Given the description of an element on the screen output the (x, y) to click on. 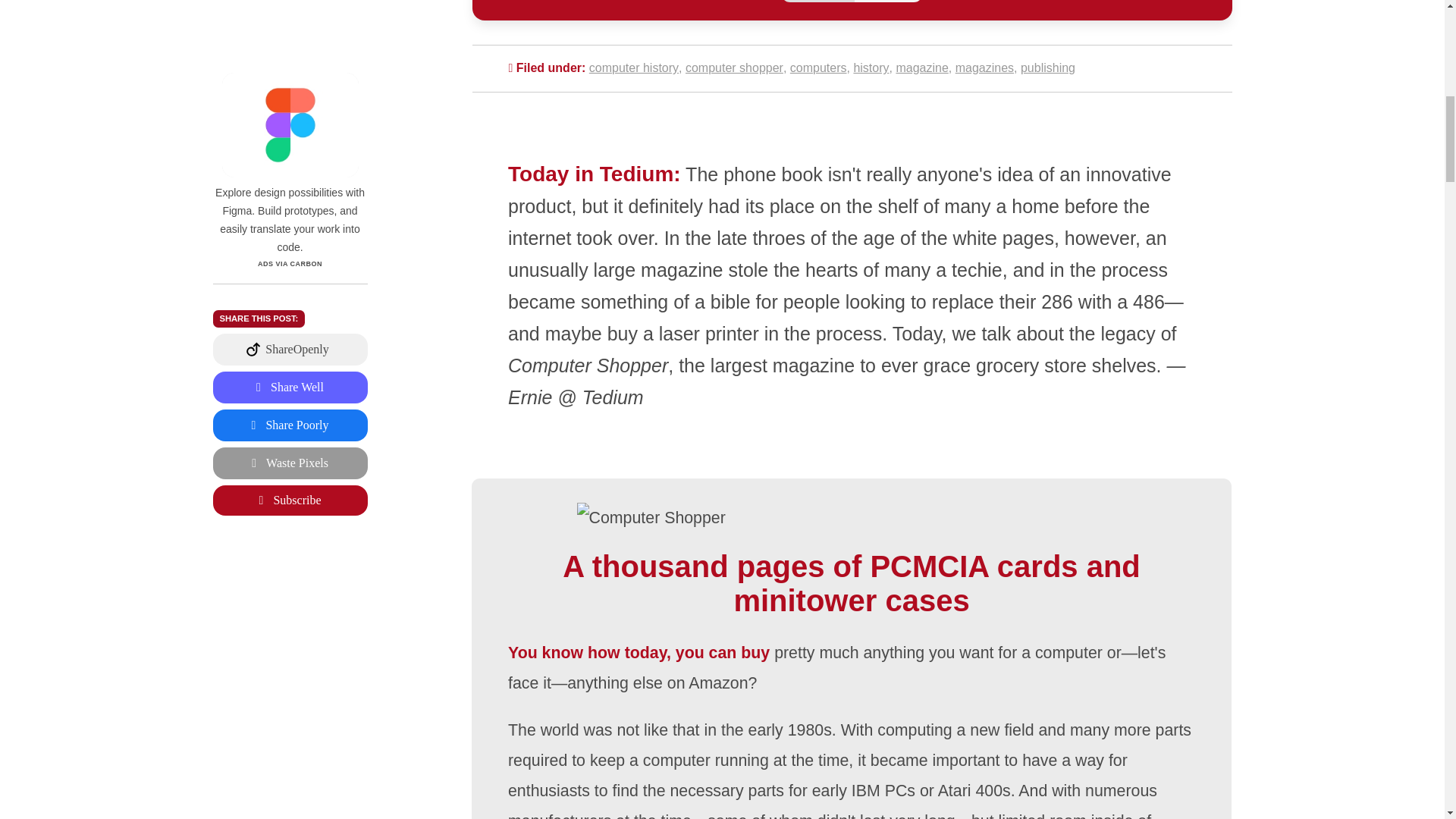
computer shopper (734, 67)
Share Well (289, 164)
Waste Pixels (289, 241)
history (870, 67)
computers (818, 67)
magazine (921, 67)
.is-mastodon (289, 127)
Subscribe (289, 277)
computer history (633, 67)
.is-facebook (289, 203)
.is-twitter (289, 241)
magazines (984, 67)
Share Poorly (289, 203)
ShareOpenly (289, 127)
publishing (1047, 67)
